Given the description of an element on the screen output the (x, y) to click on. 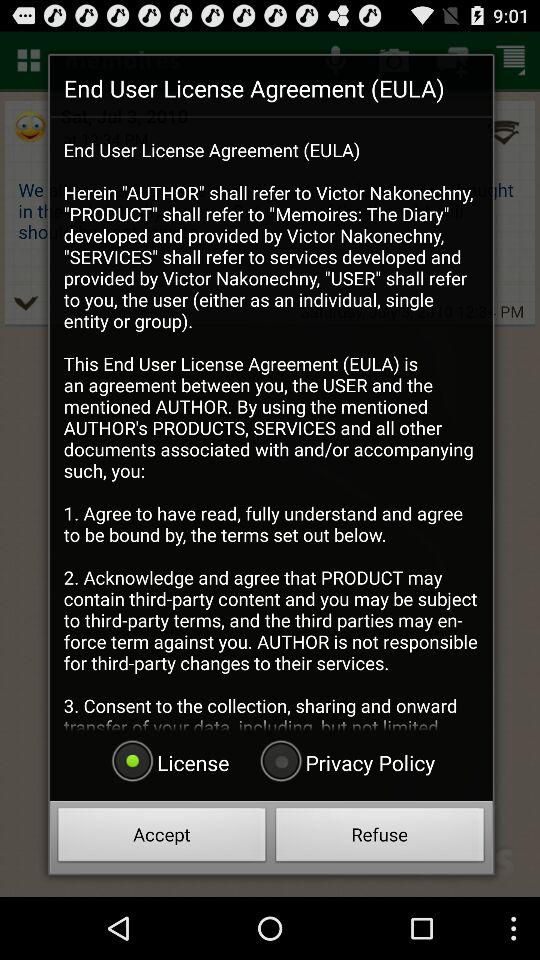
choose the icon below license icon (162, 837)
